Given the description of an element on the screen output the (x, y) to click on. 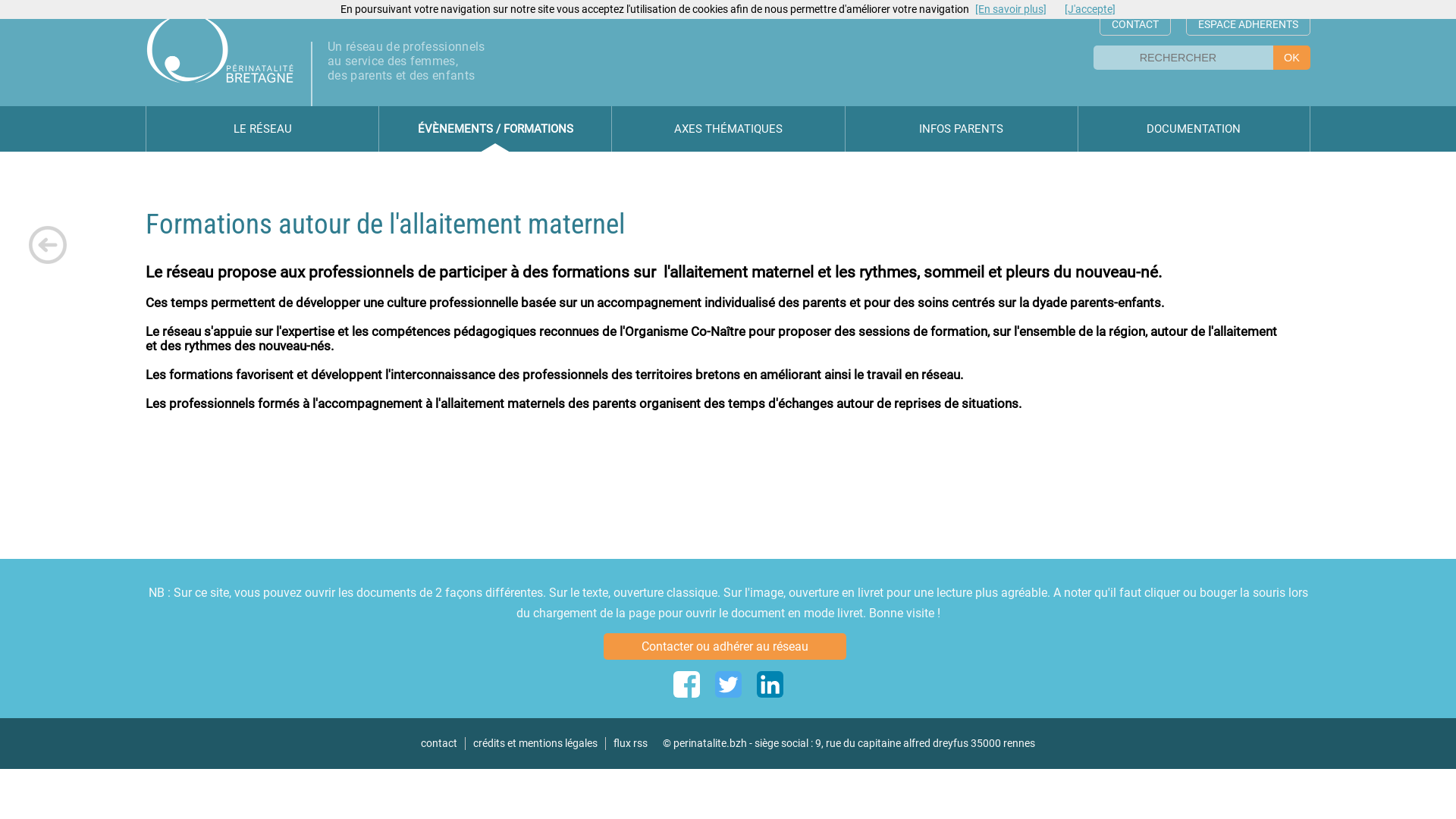
[En savoir plus] Element type: text (1010, 9)
RETOUR Element type: hover (47, 244)
[J'accepte] Element type: text (1089, 9)
Linkedin Element type: hover (769, 684)
OK Element type: text (1291, 57)
Facebook Element type: hover (686, 684)
Twitter Element type: hover (727, 684)
flux rss Element type: text (630, 743)
DOCUMENTATION Element type: text (1193, 128)
contact Element type: text (438, 743)
ESPACE ADHERENTS Element type: text (1248, 24)
INFOS PARENTS Element type: text (961, 128)
CONTACT Element type: text (1134, 24)
